Given the description of an element on the screen output the (x, y) to click on. 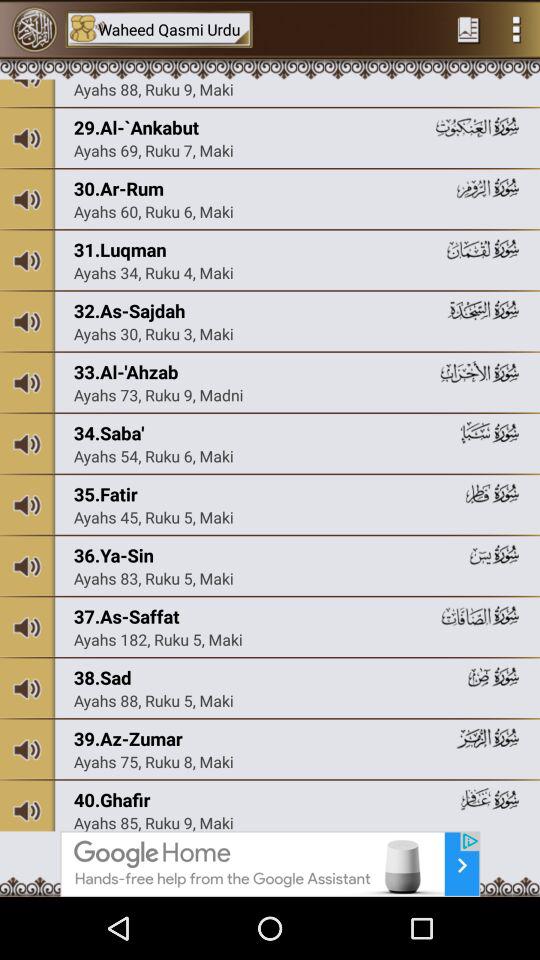
menu page (516, 29)
